Given the description of an element on the screen output the (x, y) to click on. 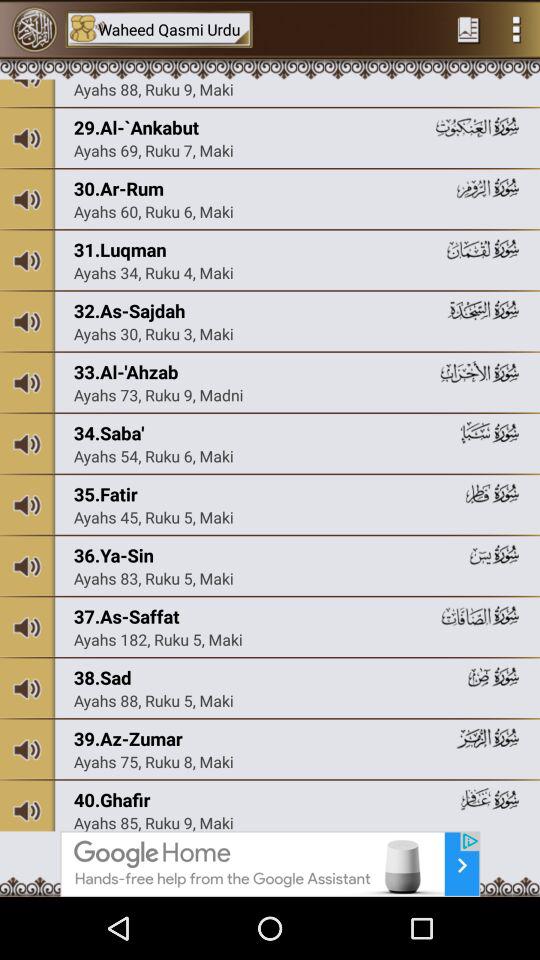
menu page (516, 29)
